Given the description of an element on the screen output the (x, y) to click on. 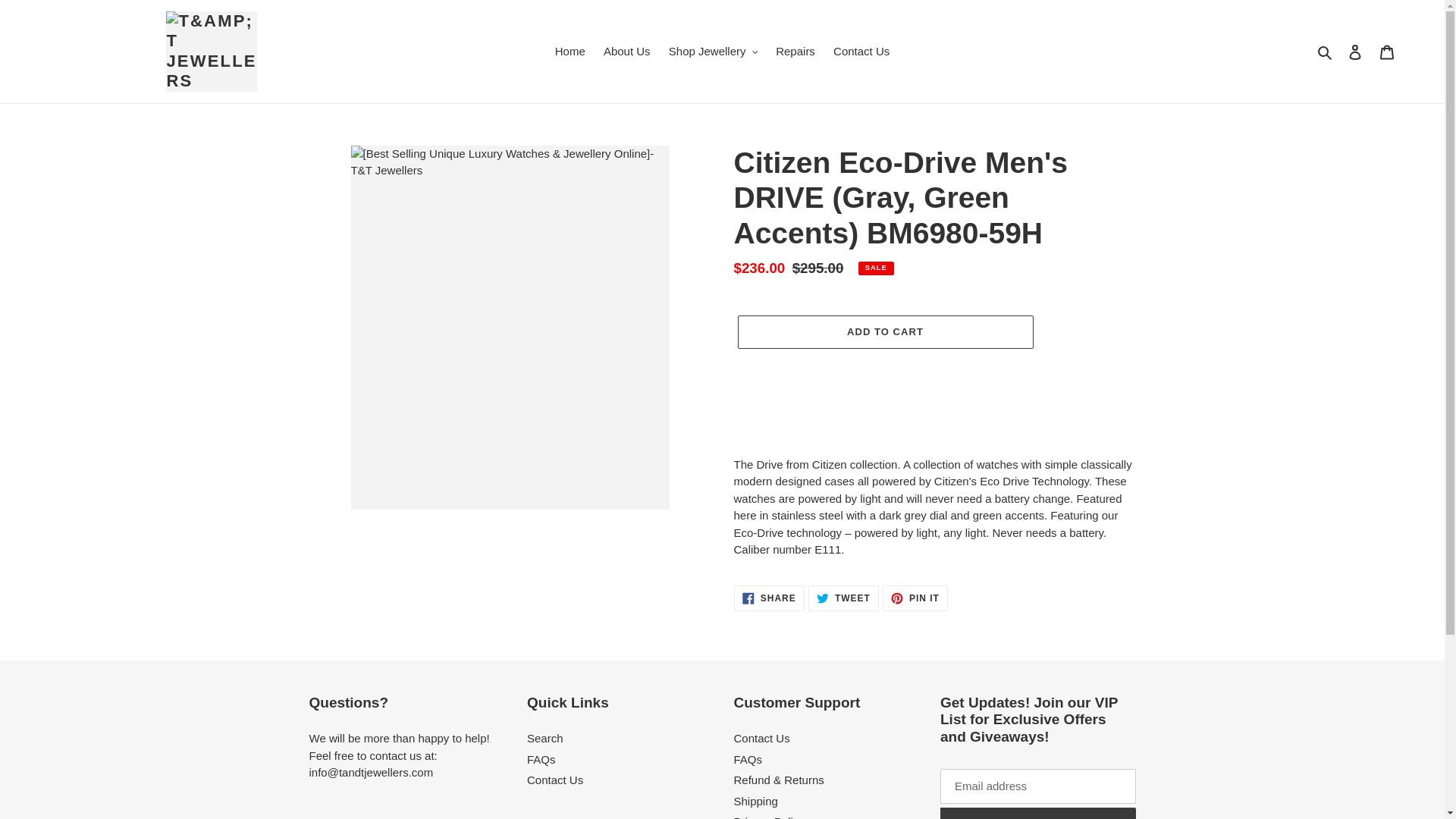
Cart (1387, 51)
About Us (626, 51)
Contact Us (860, 51)
Home (569, 51)
Repairs (795, 51)
Search (1326, 51)
Log in (1355, 51)
Shop Jewellery (713, 51)
